Given the description of an element on the screen output the (x, y) to click on. 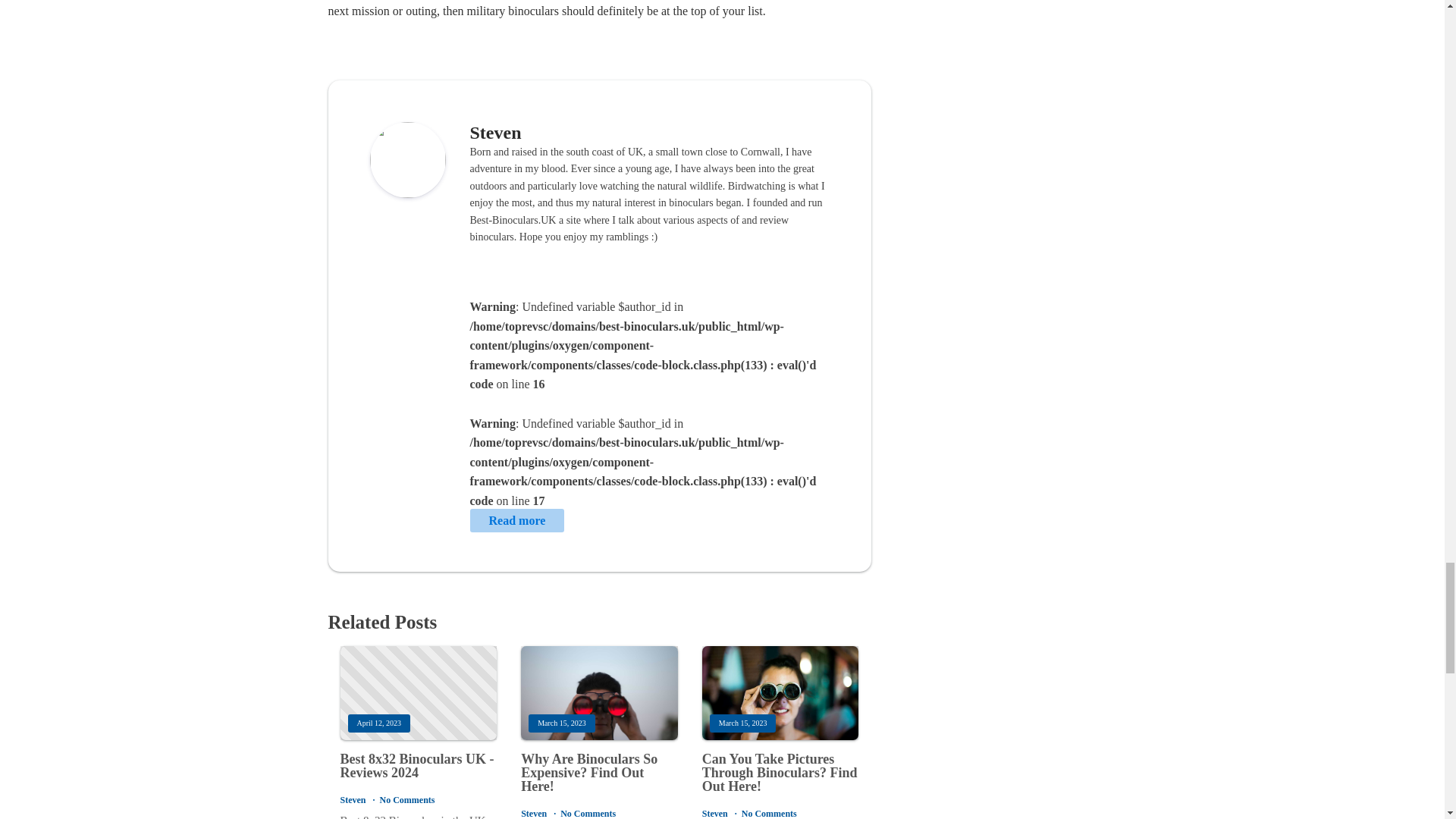
March 15, 2023 (599, 693)
No Comments (768, 813)
Read more (517, 519)
Can You Take Pictures Through Binoculars? Find Out Here! (780, 772)
No Comments (587, 813)
March 15, 2023 (780, 693)
April 12, 2023 (417, 693)
No Comments (405, 799)
Steven (495, 132)
Best 8x32 Binoculars UK - Reviews 2024 (417, 765)
Why Are Binoculars So Expensive? Find Out Here! (599, 772)
Posts by Steven (495, 132)
